Given the description of an element on the screen output the (x, y) to click on. 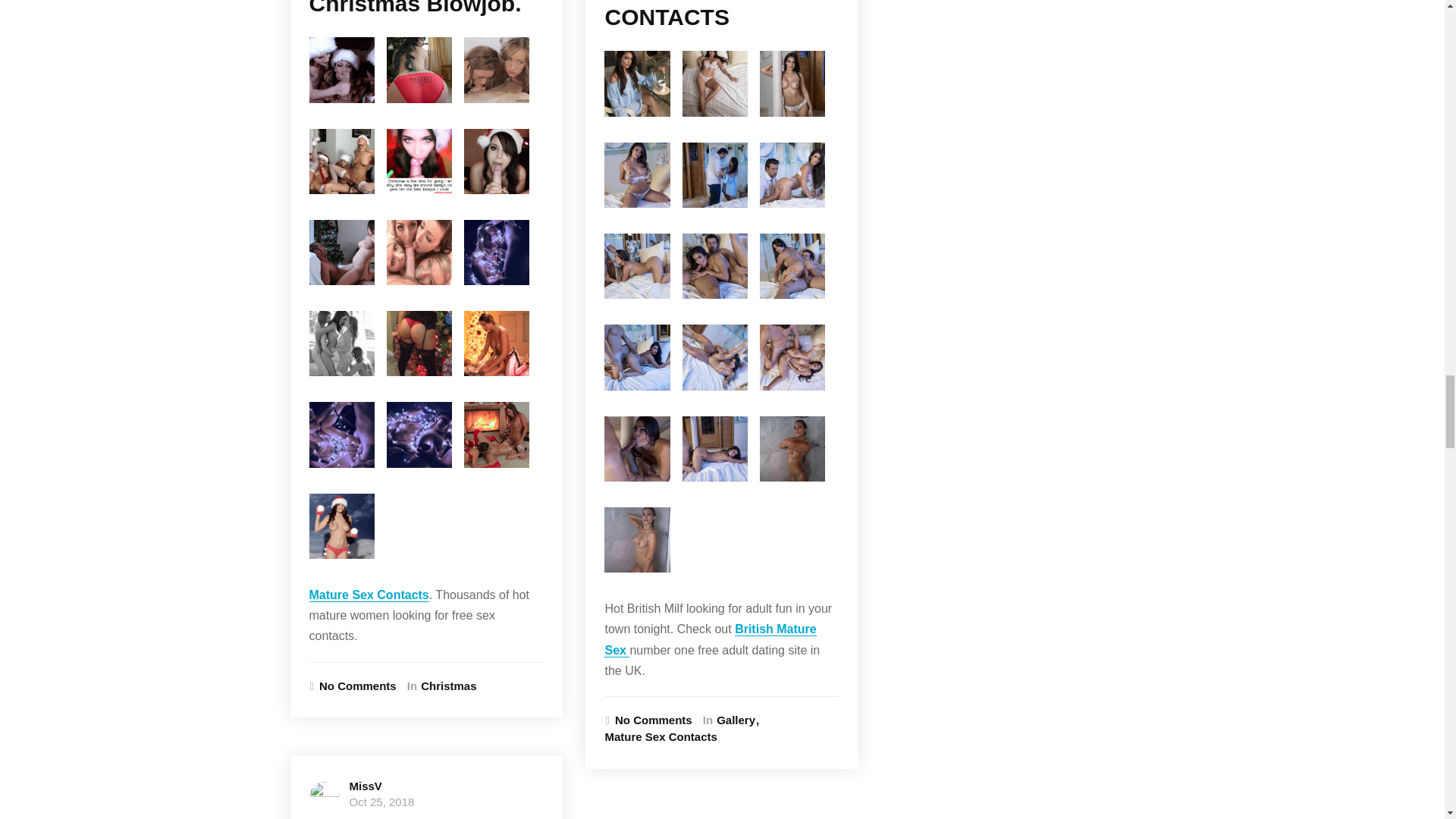
Christmas Blowjob. (414, 7)
Mature Sex Contacts (368, 594)
